Given the description of an element on the screen output the (x, y) to click on. 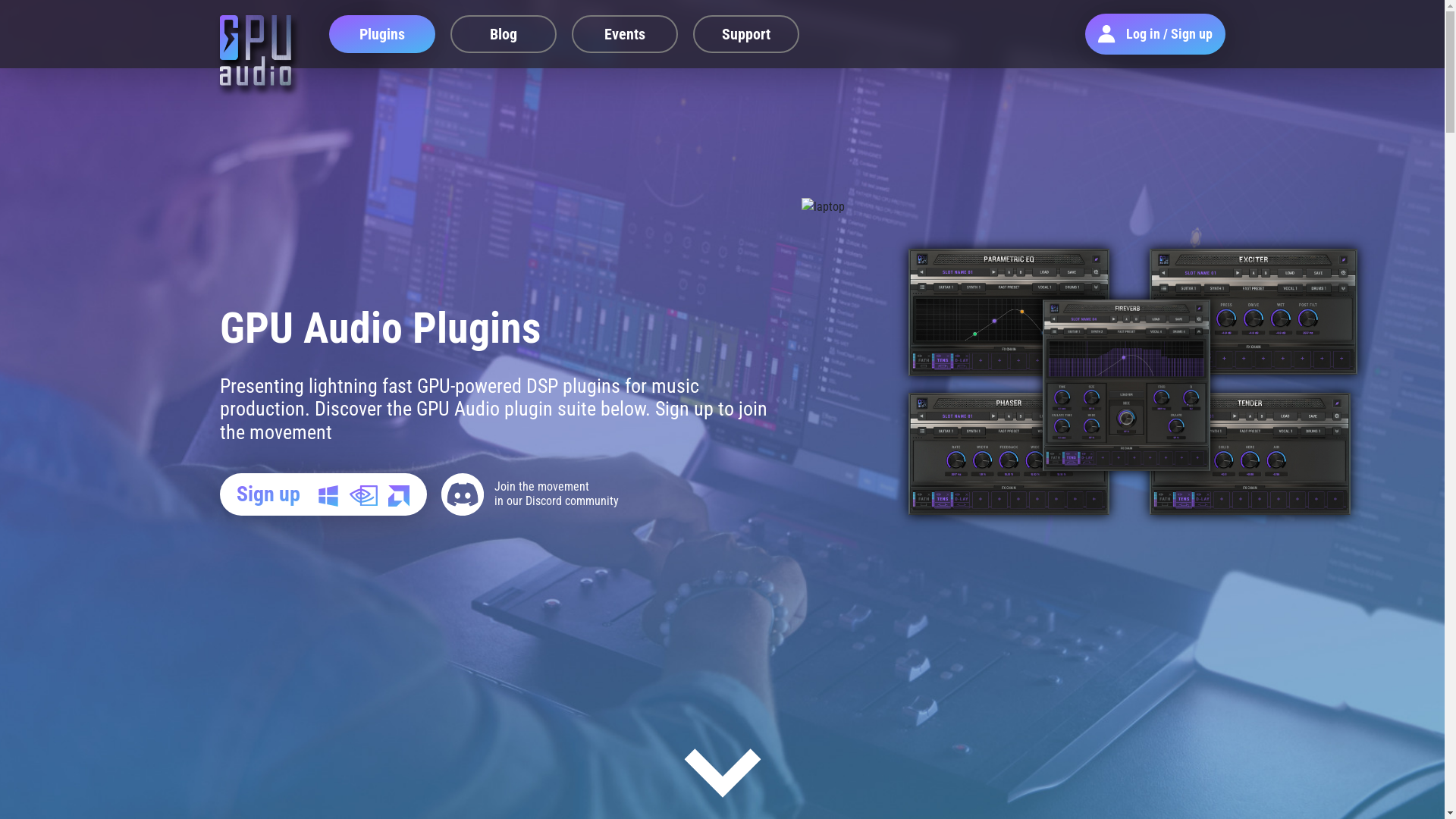
Sign up Element type: text (322, 494)
Log in / Sign up Element type: text (1155, 33)
Plugins Element type: text (382, 34)
Events Element type: text (624, 34)
Blog Element type: text (503, 34)
Support Element type: text (746, 34)
